Given the description of an element on the screen output the (x, y) to click on. 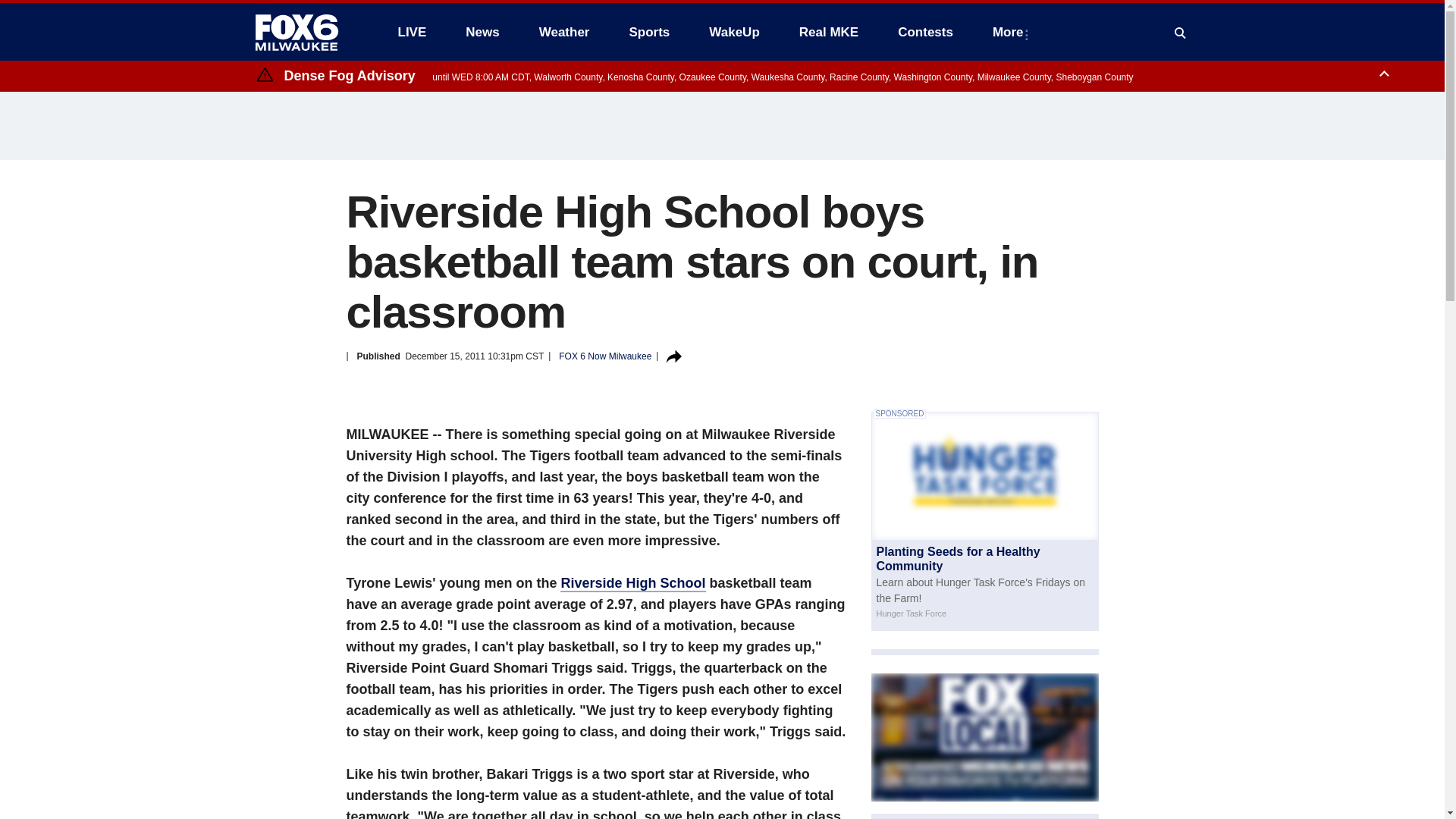
Contests (925, 32)
Weather (564, 32)
Real MKE (828, 32)
WakeUp (734, 32)
More (1010, 32)
Sports (648, 32)
News (481, 32)
LIVE (411, 32)
